Given the description of an element on the screen output the (x, y) to click on. 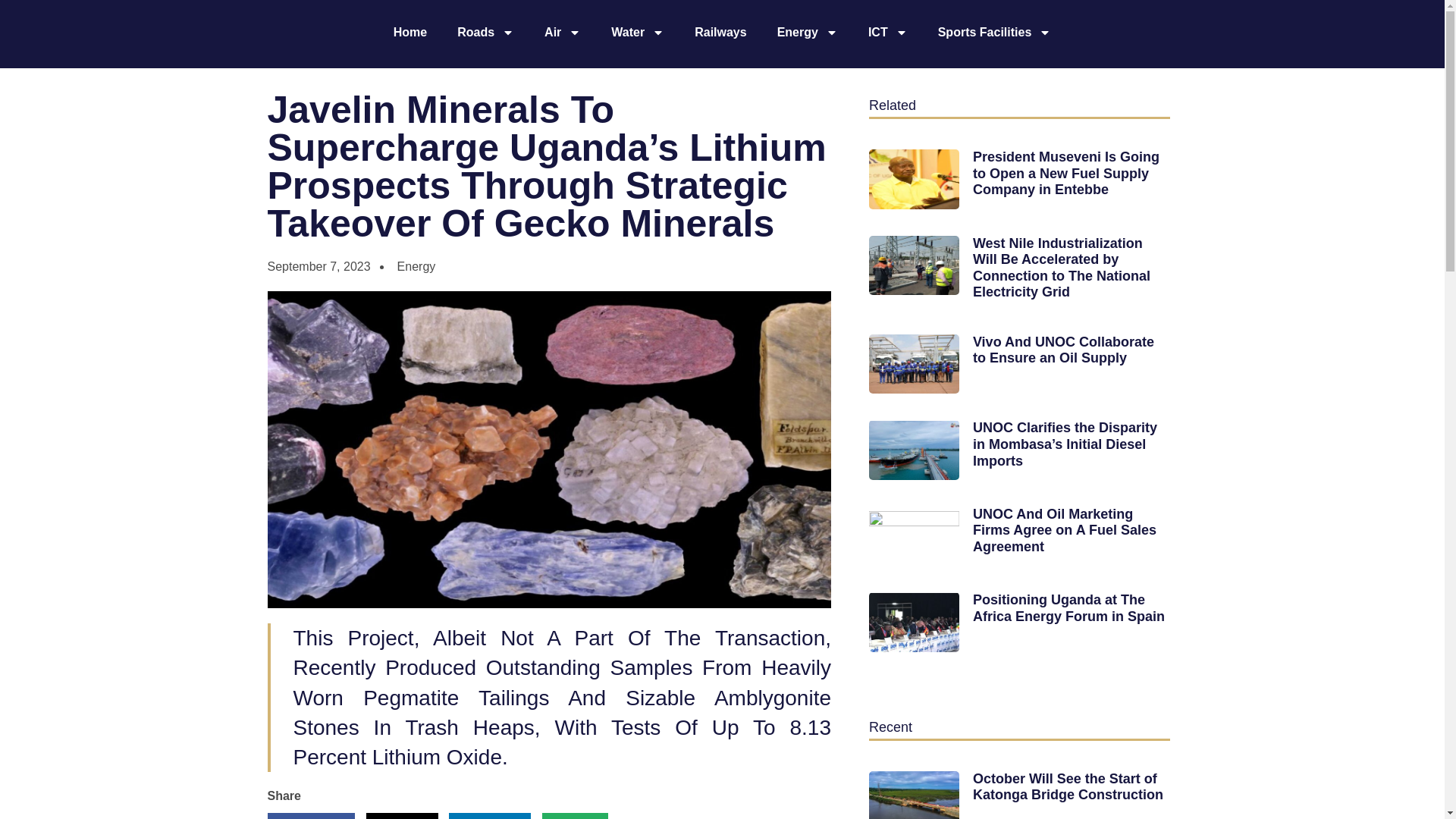
Home (410, 32)
Sports Facilities (995, 32)
Share on Facebook (309, 816)
Share on LinkedIn (489, 816)
Roads (485, 32)
Energy (807, 32)
Air (562, 32)
Send over email (574, 816)
Share on X (402, 816)
Water (637, 32)
Railways (720, 32)
ICT (888, 32)
